Given the description of an element on the screen output the (x, y) to click on. 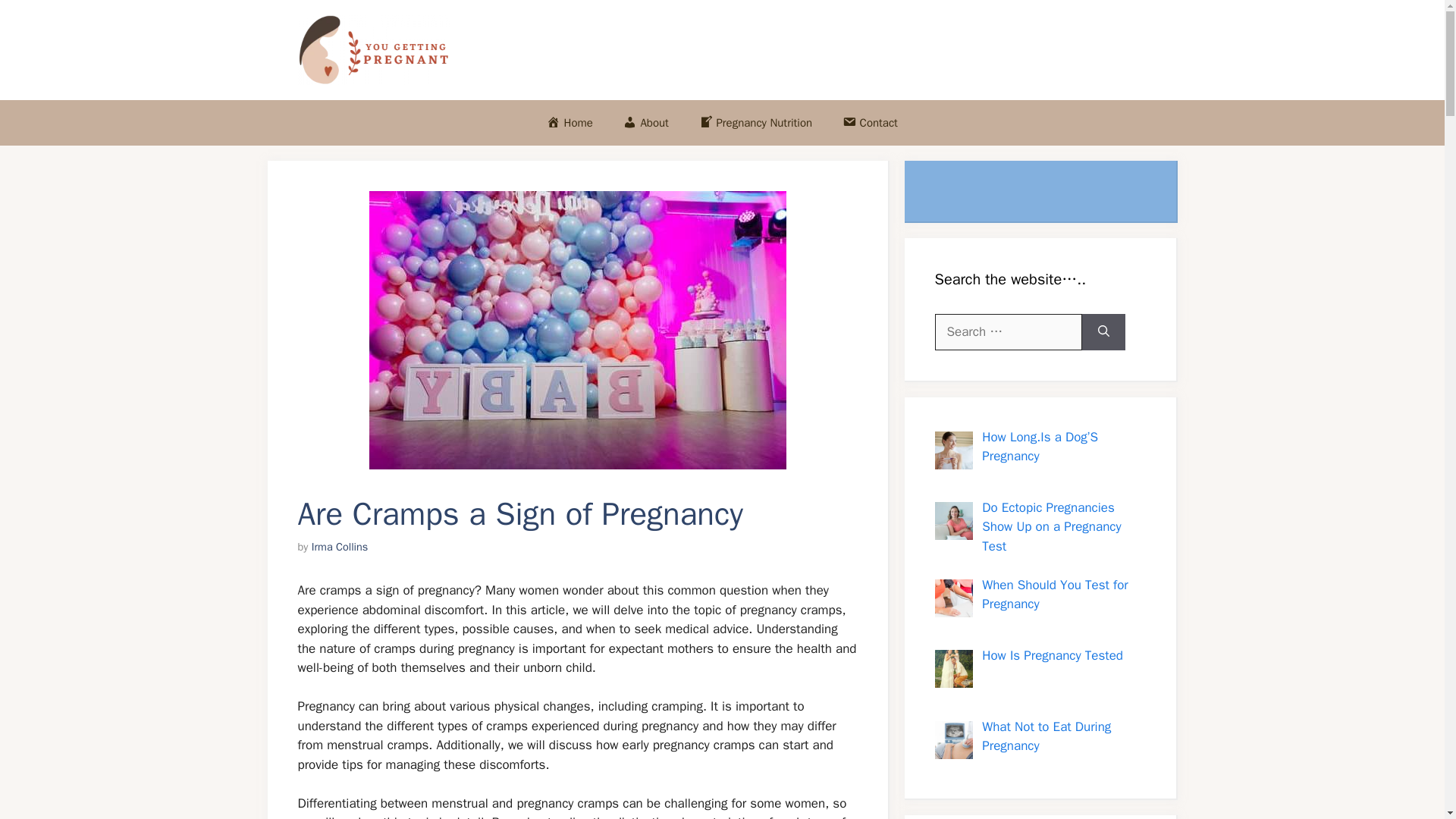
Irma Collins (339, 546)
Are Cramps a Sign of Pregnancy (577, 329)
Contact (869, 122)
About (646, 122)
View all posts by Irma Collins (339, 546)
Home (569, 122)
Pregnancy Nutrition (755, 122)
